Given the description of an element on the screen output the (x, y) to click on. 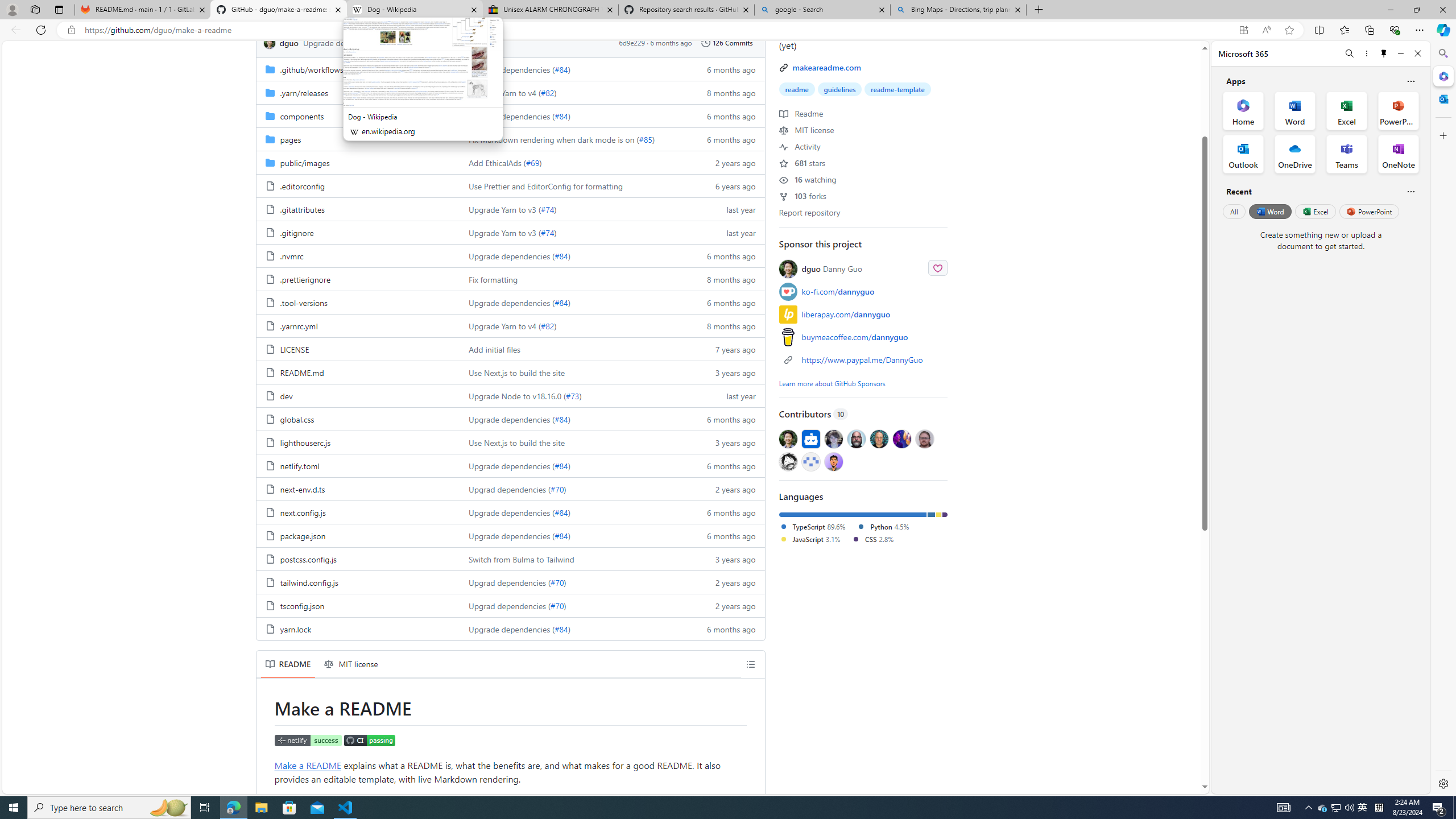
.gitattributes, (File) (301, 208)
Excel (1315, 210)
Read aloud this page (Ctrl+Shift+U) (1266, 29)
OneDrive Office App (1295, 154)
tsconfig.json, (File) (301, 605)
Outlook Office App (1243, 154)
.nvmrc, (File) (291, 255)
View site information (70, 29)
AutomationID: folder-row-17 (510, 465)
6 years ago (725, 185)
components, (Directory) (301, 116)
Contributors 10 (862, 413)
Open commit details (417, 42)
Word Office App (1295, 110)
